Given the description of an element on the screen output the (x, y) to click on. 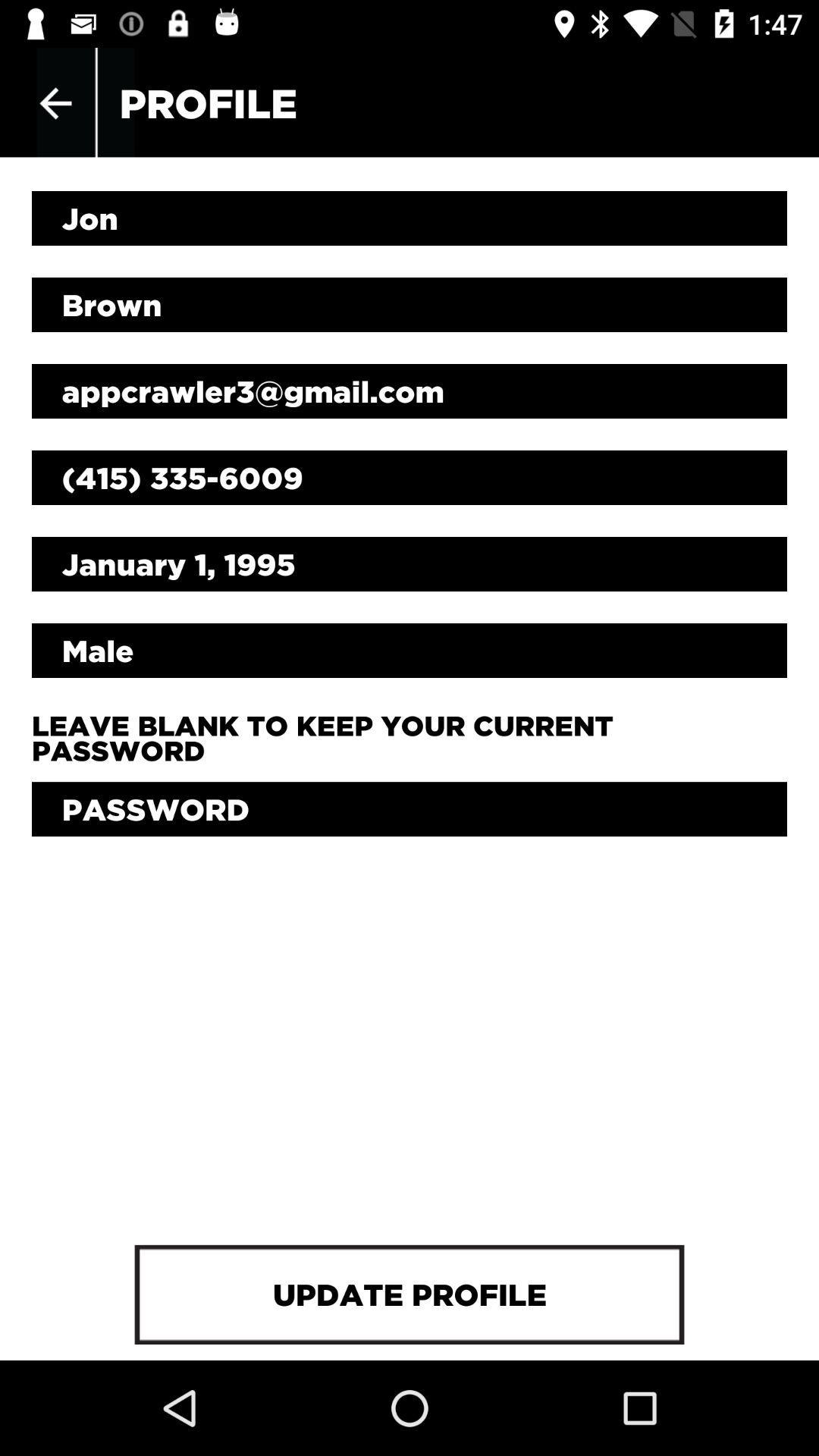
launch icon above the jon icon (55, 103)
